Given the description of an element on the screen output the (x, y) to click on. 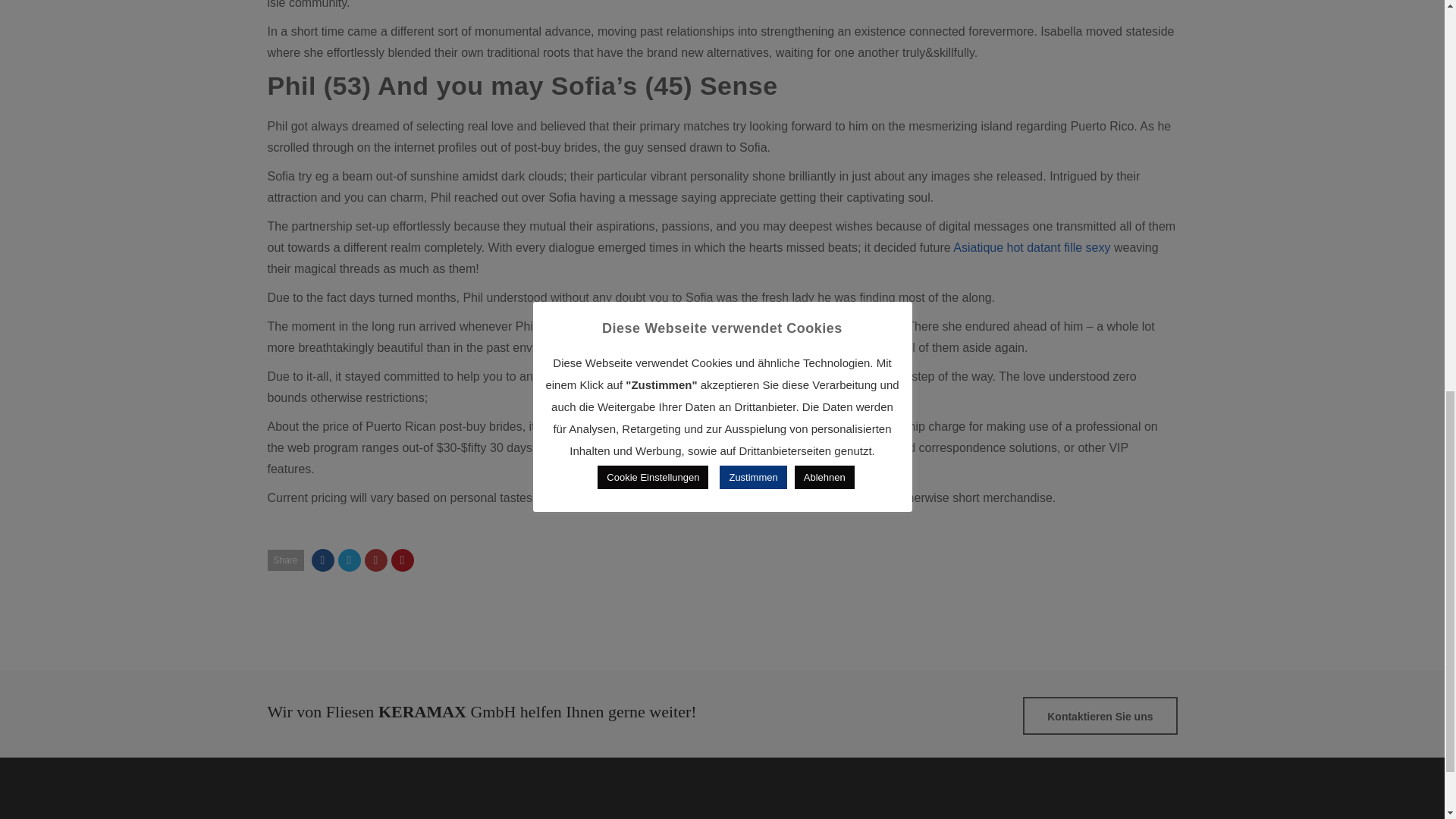
Share (284, 559)
Asiatique hot datant fille sexy (1031, 246)
Kontaktieren Sie uns (1099, 715)
KERAMAX (329, 816)
